Given the description of an element on the screen output the (x, y) to click on. 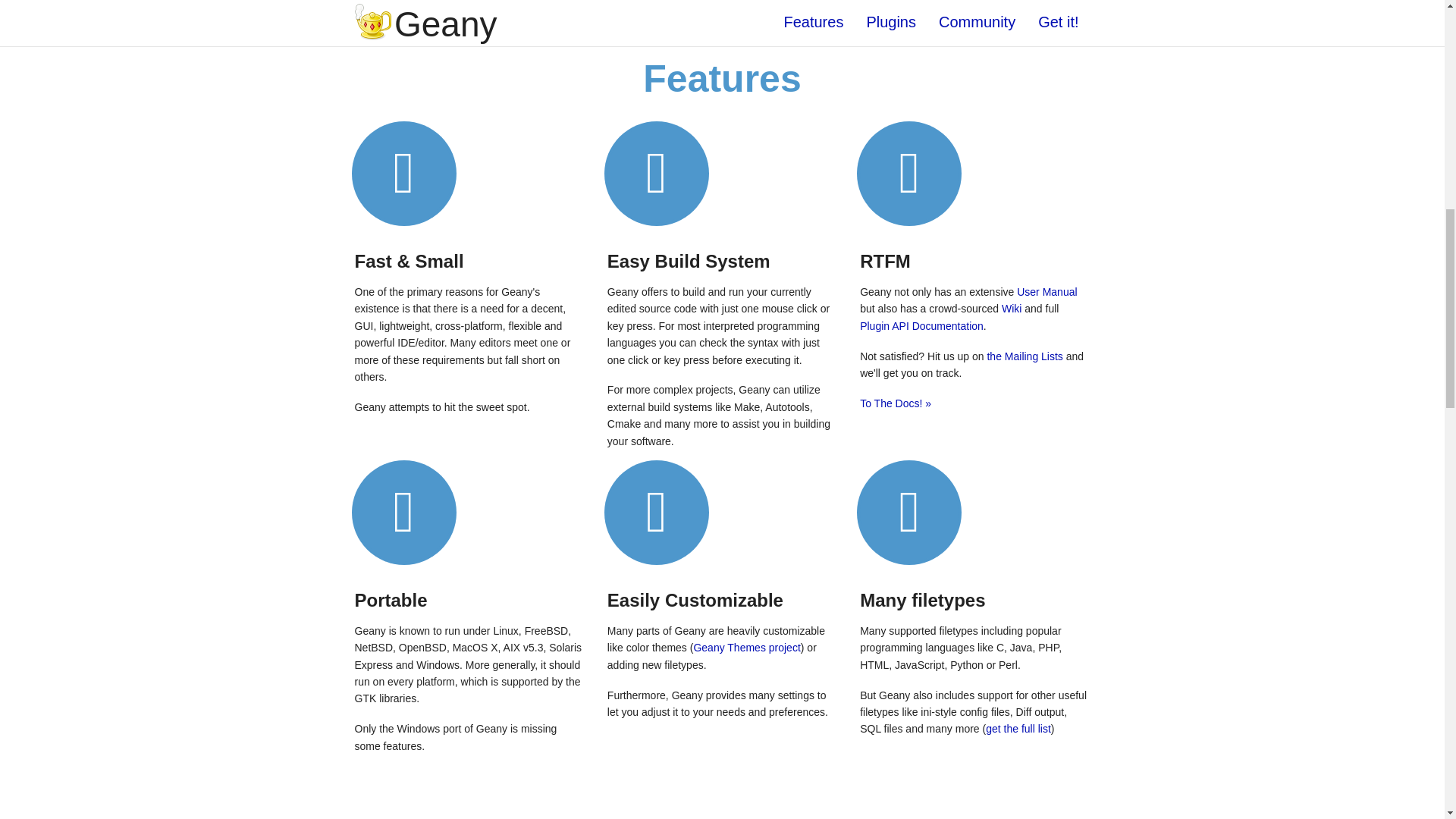
Geany Themes project (746, 647)
User Manual (1046, 291)
get the full list (1018, 728)
Wiki (1011, 308)
the Mailing Lists (1024, 356)
Plugin API Documentation (922, 326)
